Given the description of an element on the screen output the (x, y) to click on. 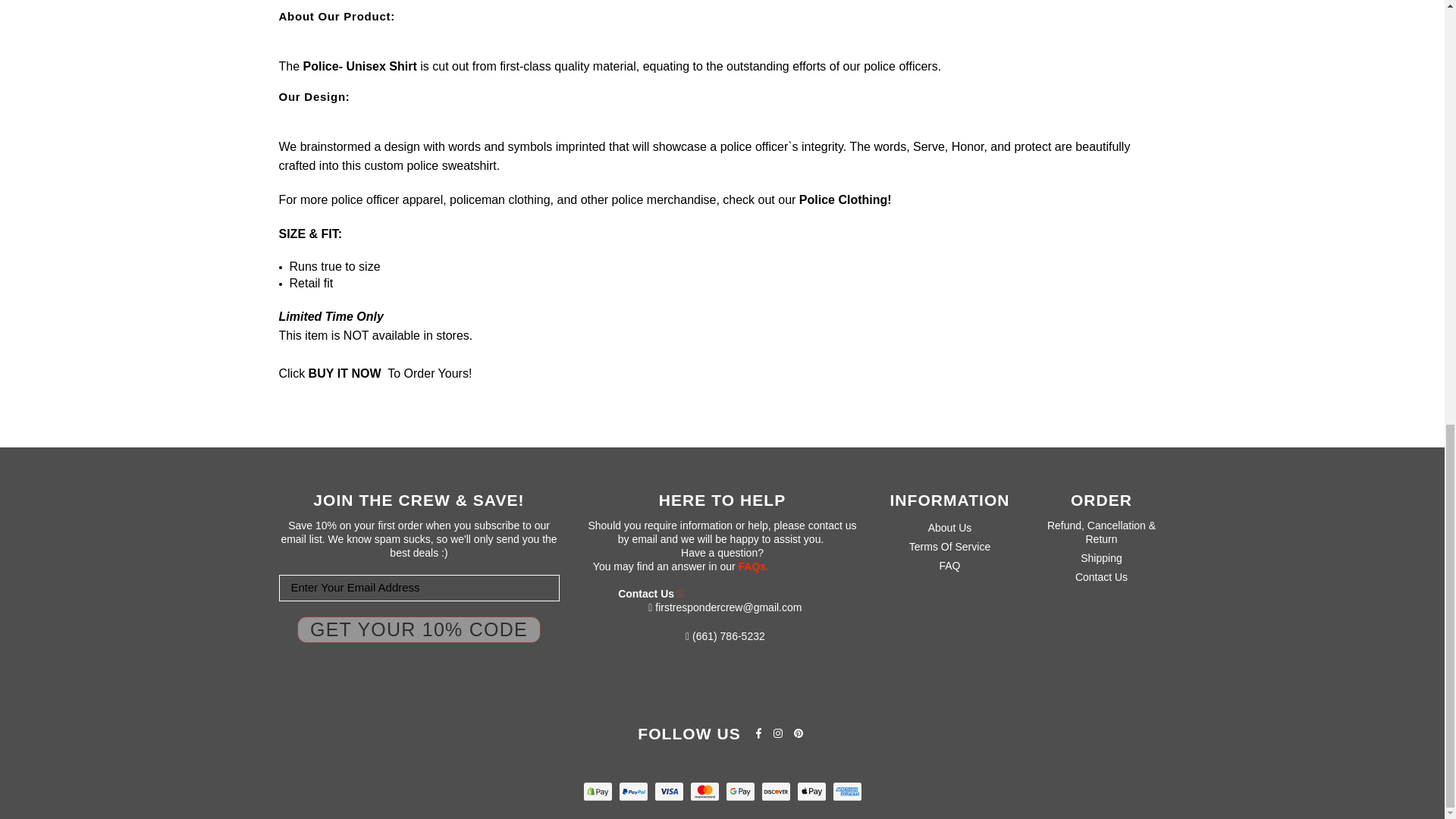
FAQs. (753, 566)
Shipping (1101, 558)
FAQ (949, 565)
FAQ (753, 566)
About Us (950, 527)
Terms Of Service (949, 546)
Contact Us (1100, 576)
